Given the description of an element on the screen output the (x, y) to click on. 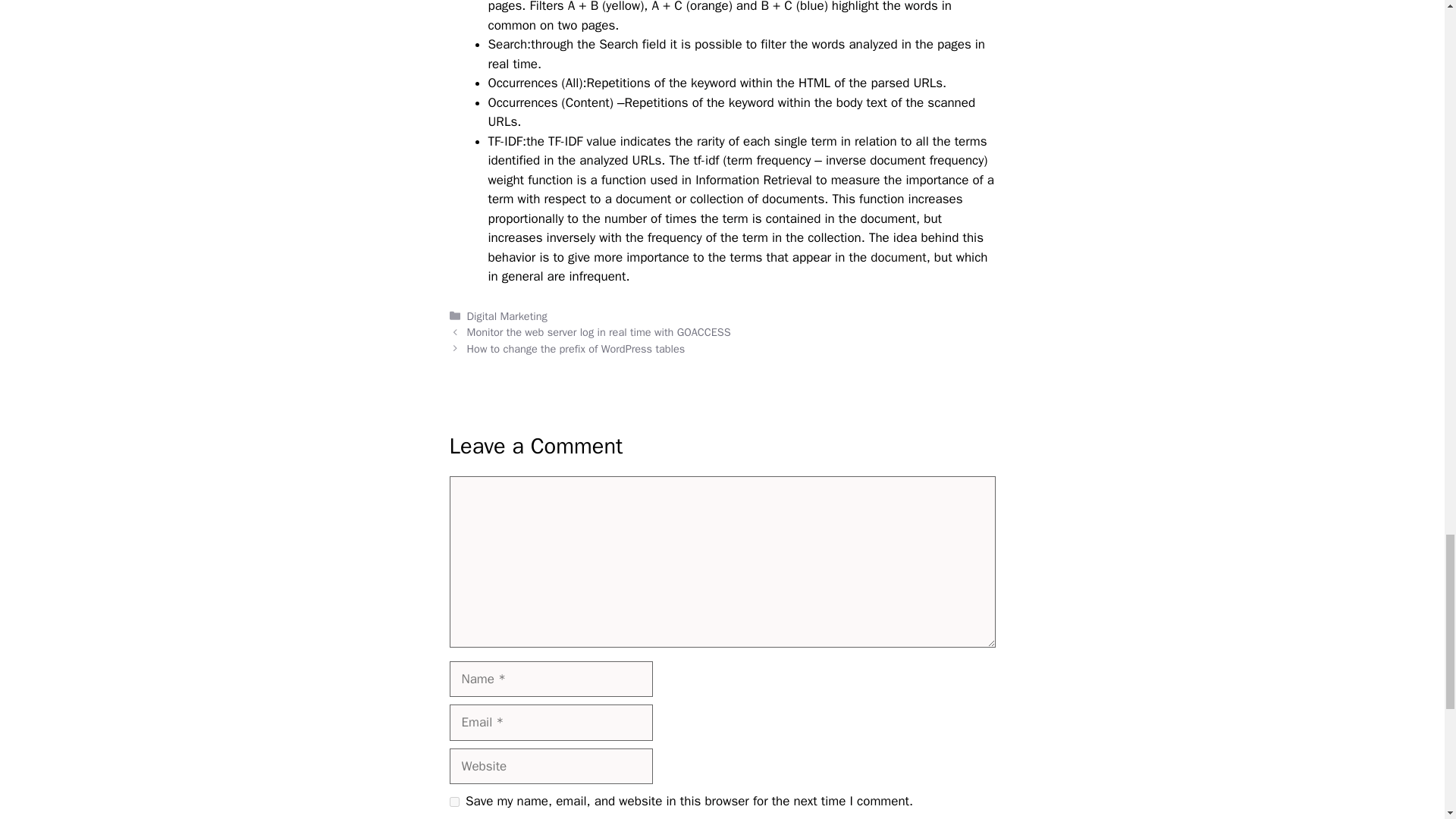
document (896, 257)
yes (453, 801)
How to change the prefix of WordPress tables (576, 348)
Monitor the web server log in real time with GOACCESS (598, 332)
Digital Marketing (507, 315)
